Given the description of an element on the screen output the (x, y) to click on. 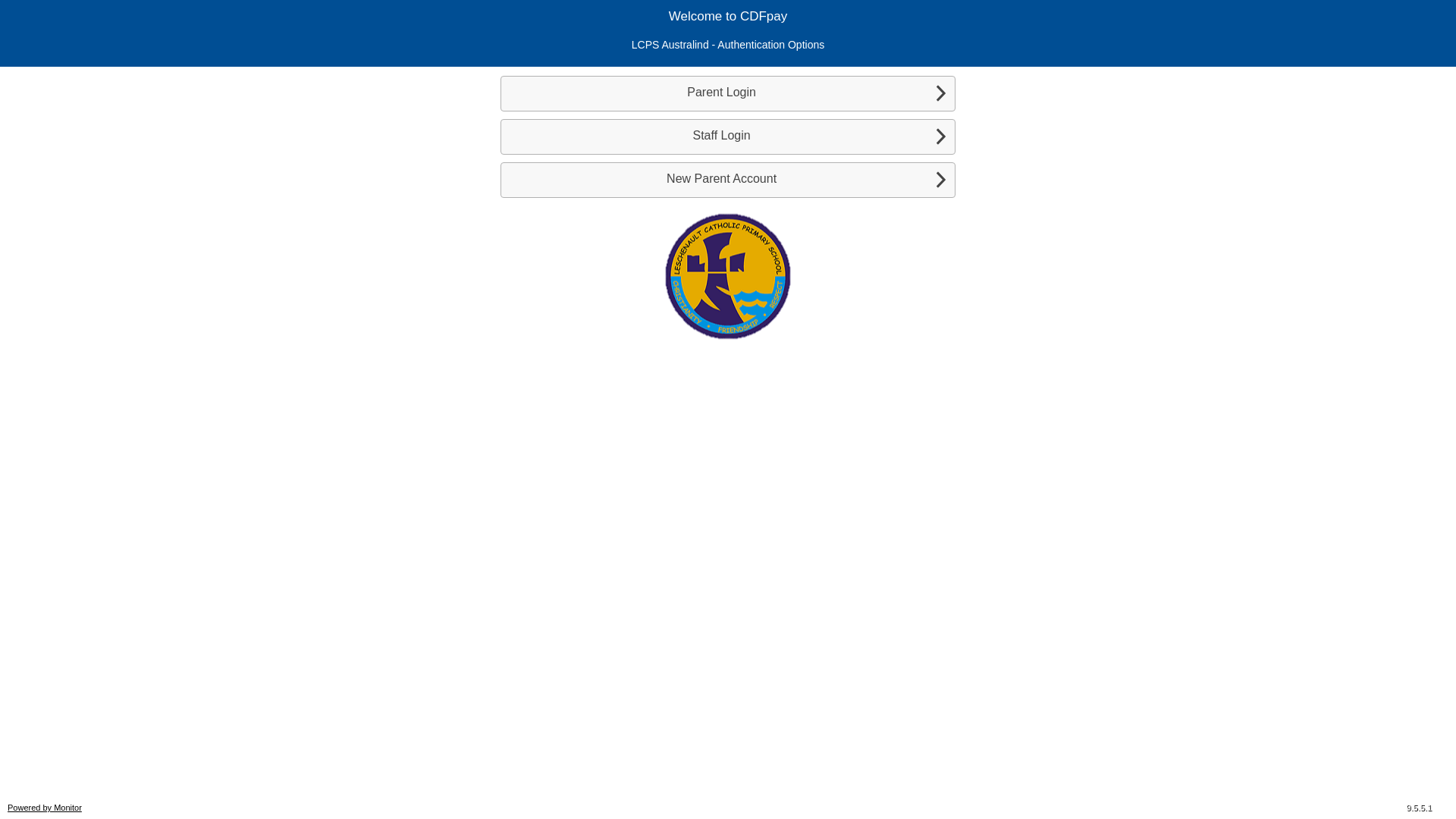
Powered by Monitor Element type: text (44, 807)
